Given the description of an element on the screen output the (x, y) to click on. 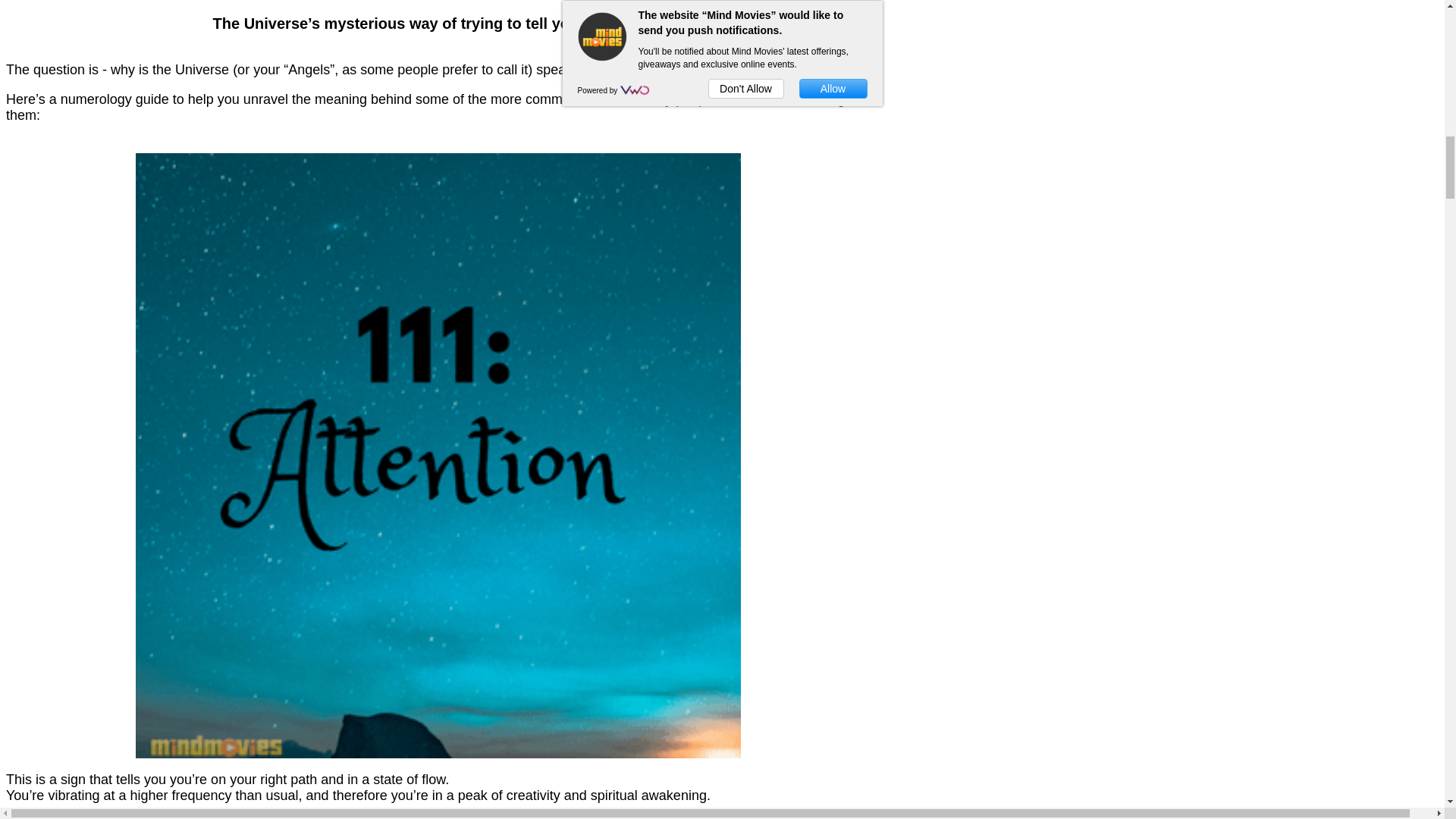
creative visualization (359, 818)
